Given the description of an element on the screen output the (x, y) to click on. 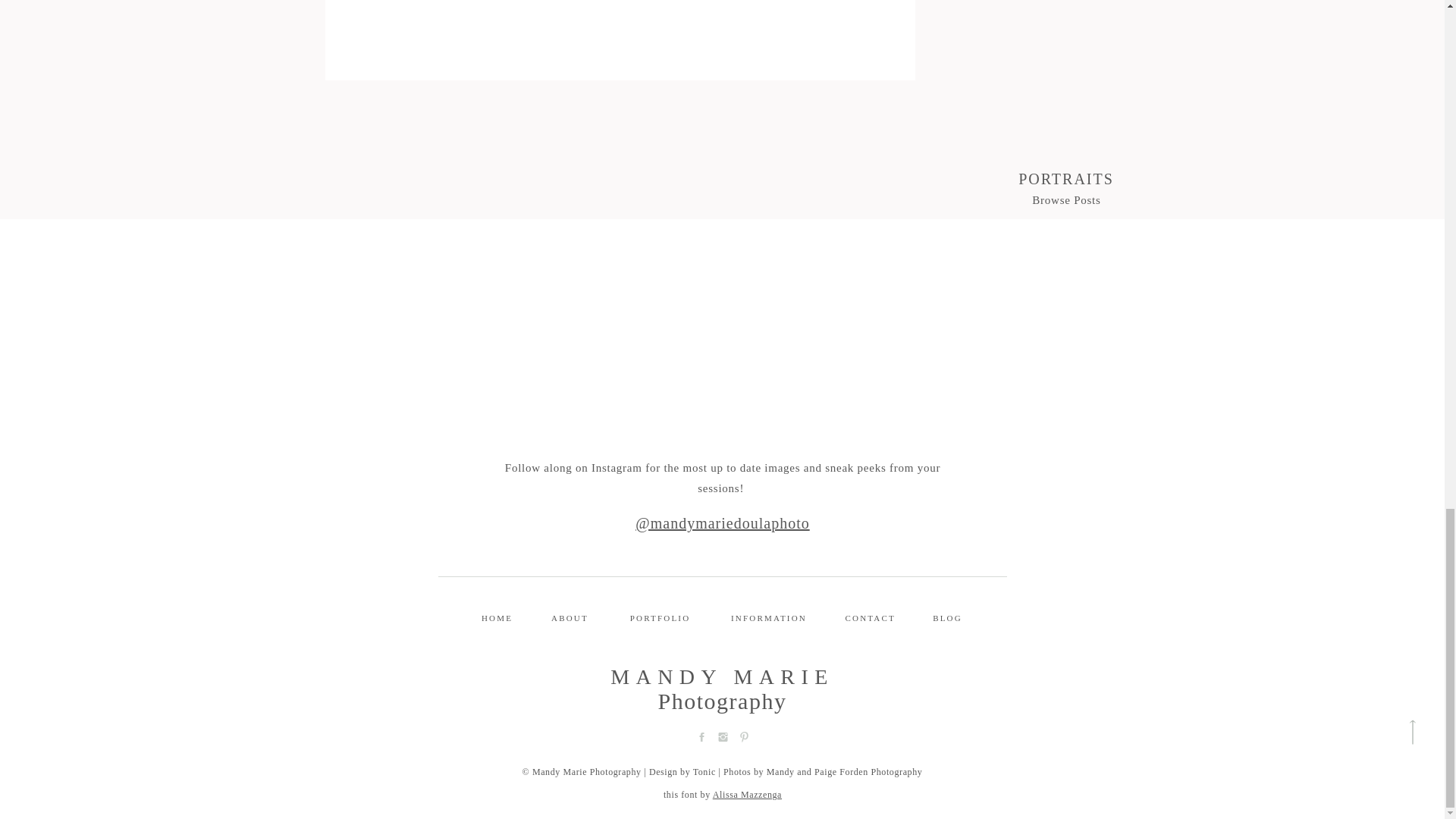
PORTFOLIO (659, 617)
arrow (1412, 732)
PERSONAL (1065, 595)
INFORMATION (768, 617)
PORTRAITS (1065, 573)
MANDY MARIE (722, 676)
BUSINESS (1065, 616)
CONTACT (868, 617)
MATERNITY (1065, 551)
BLOG (946, 617)
